Given the description of an element on the screen output the (x, y) to click on. 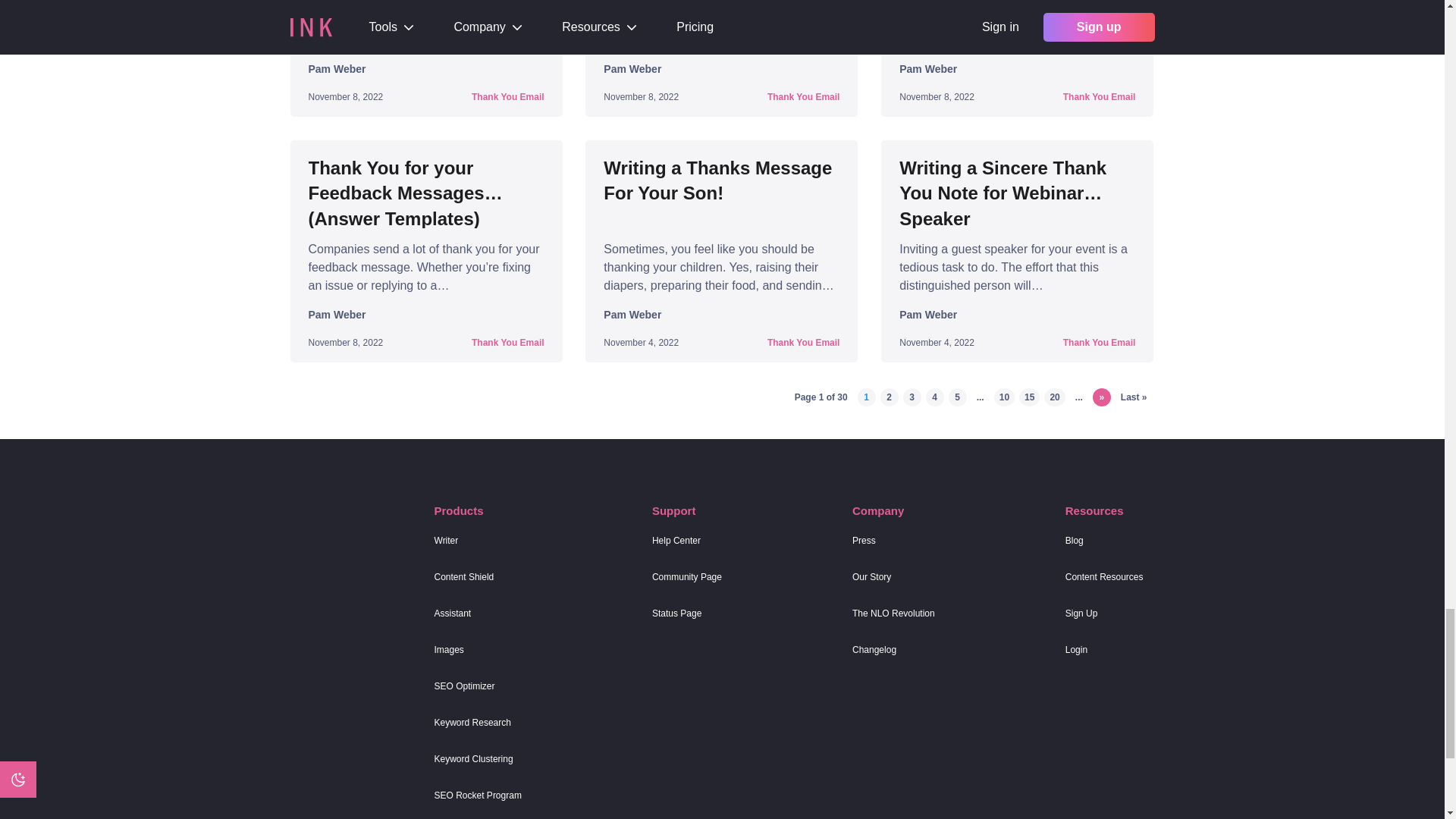
Page 20 (1053, 397)
Page 2 (889, 397)
Page 10 (1004, 397)
Page 4 (934, 397)
Page 5 (957, 397)
Page 15 (1029, 397)
Page 3 (911, 397)
